Given the description of an element on the screen output the (x, y) to click on. 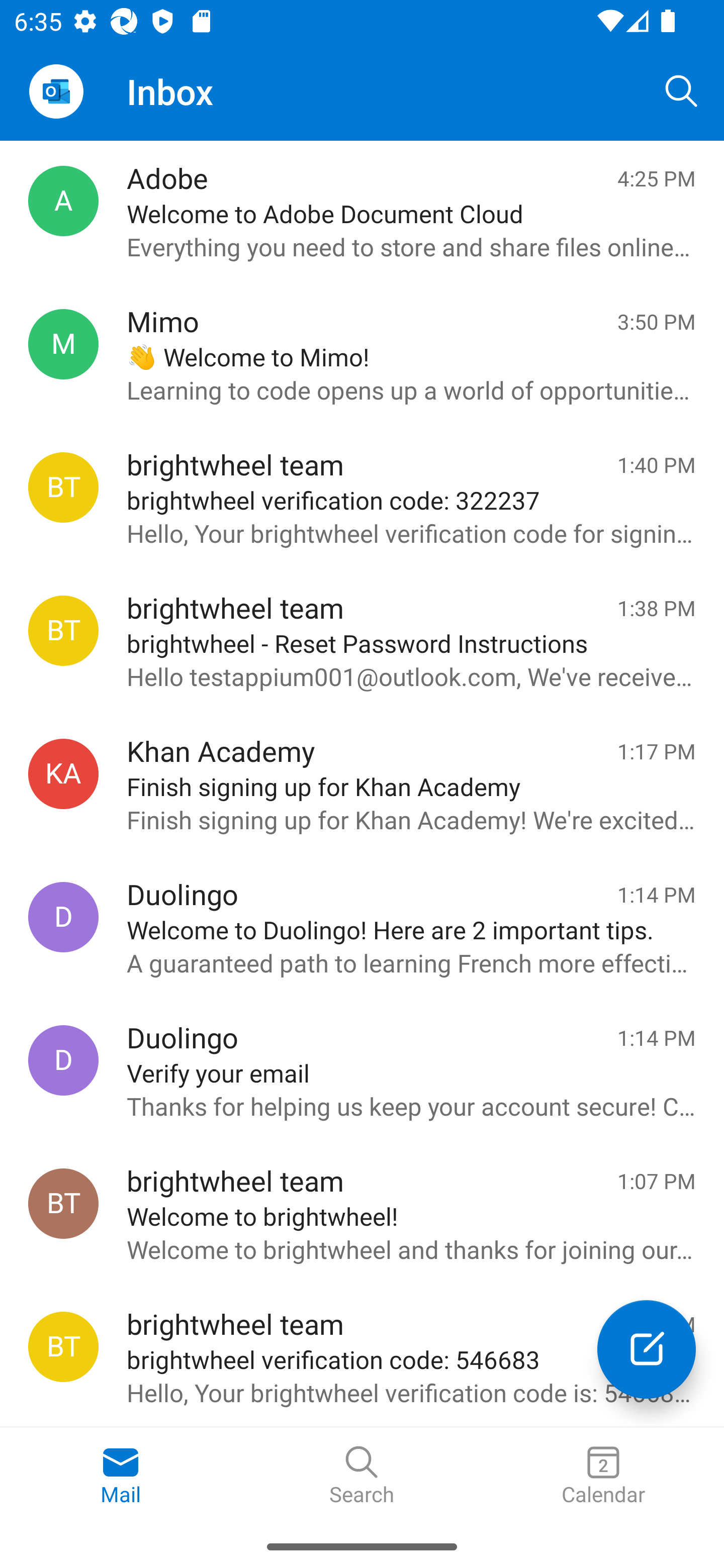
Search (681, 90)
Open Navigation Drawer (55, 91)
Adobe, message@adobe.com (63, 201)
Mimo, support@getmimo.com (63, 343)
brightwheel team, recovery@mybrightwheel.com (63, 486)
brightwheel team, recovery@mybrightwheel.com (63, 630)
Khan Academy, no-reply@khanacademy.org (63, 773)
Duolingo, hello@duolingo.com (63, 916)
Duolingo, hello@duolingo.com (63, 1060)
brightwheel team, welcome@mybrightwheel.com (63, 1203)
Compose (646, 1348)
brightwheel team, recovery@mybrightwheel.com (63, 1346)
Search (361, 1475)
Calendar (603, 1475)
